Given the description of an element on the screen output the (x, y) to click on. 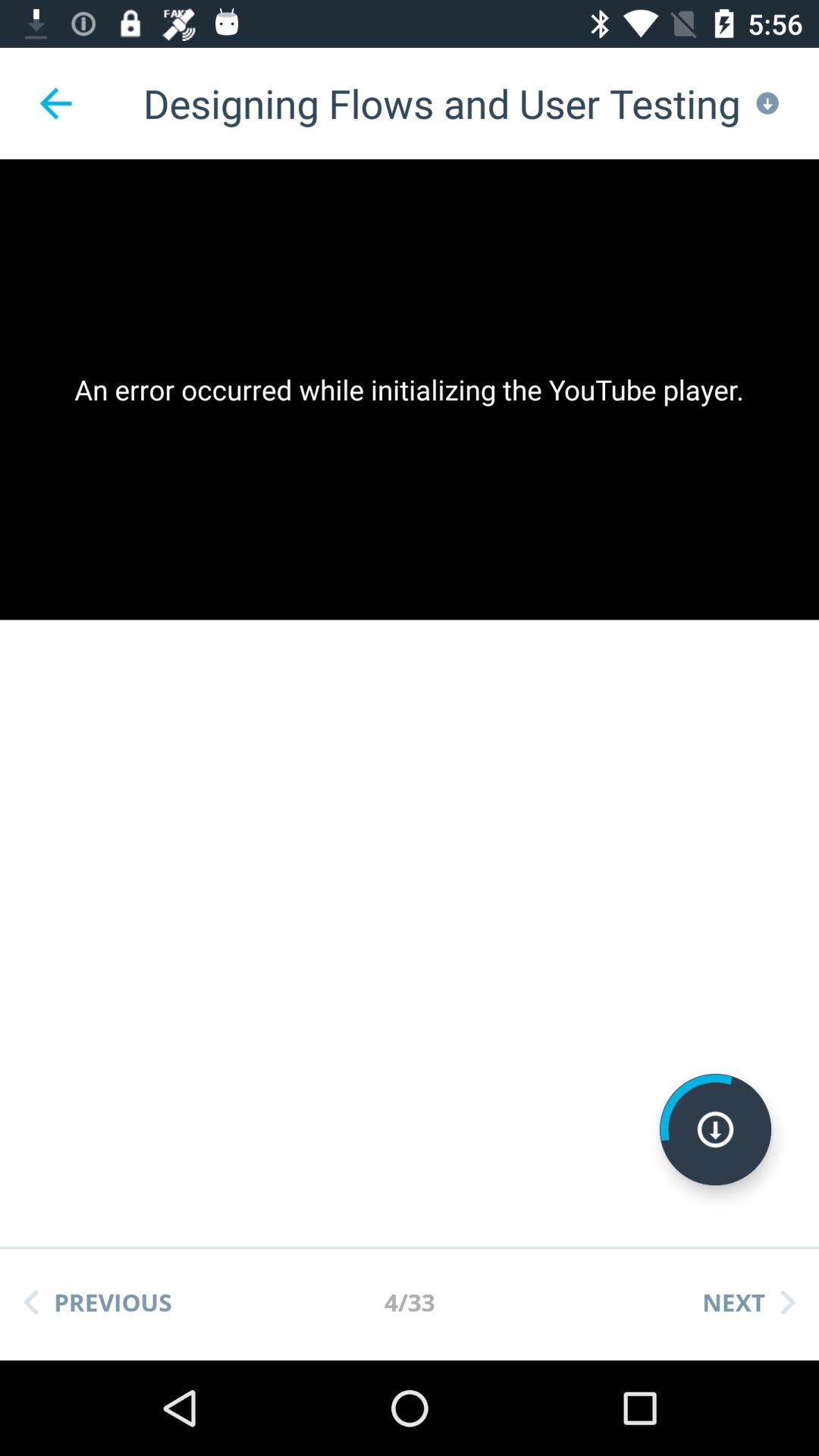
press the icon at the top left corner (55, 103)
